Given the description of an element on the screen output the (x, y) to click on. 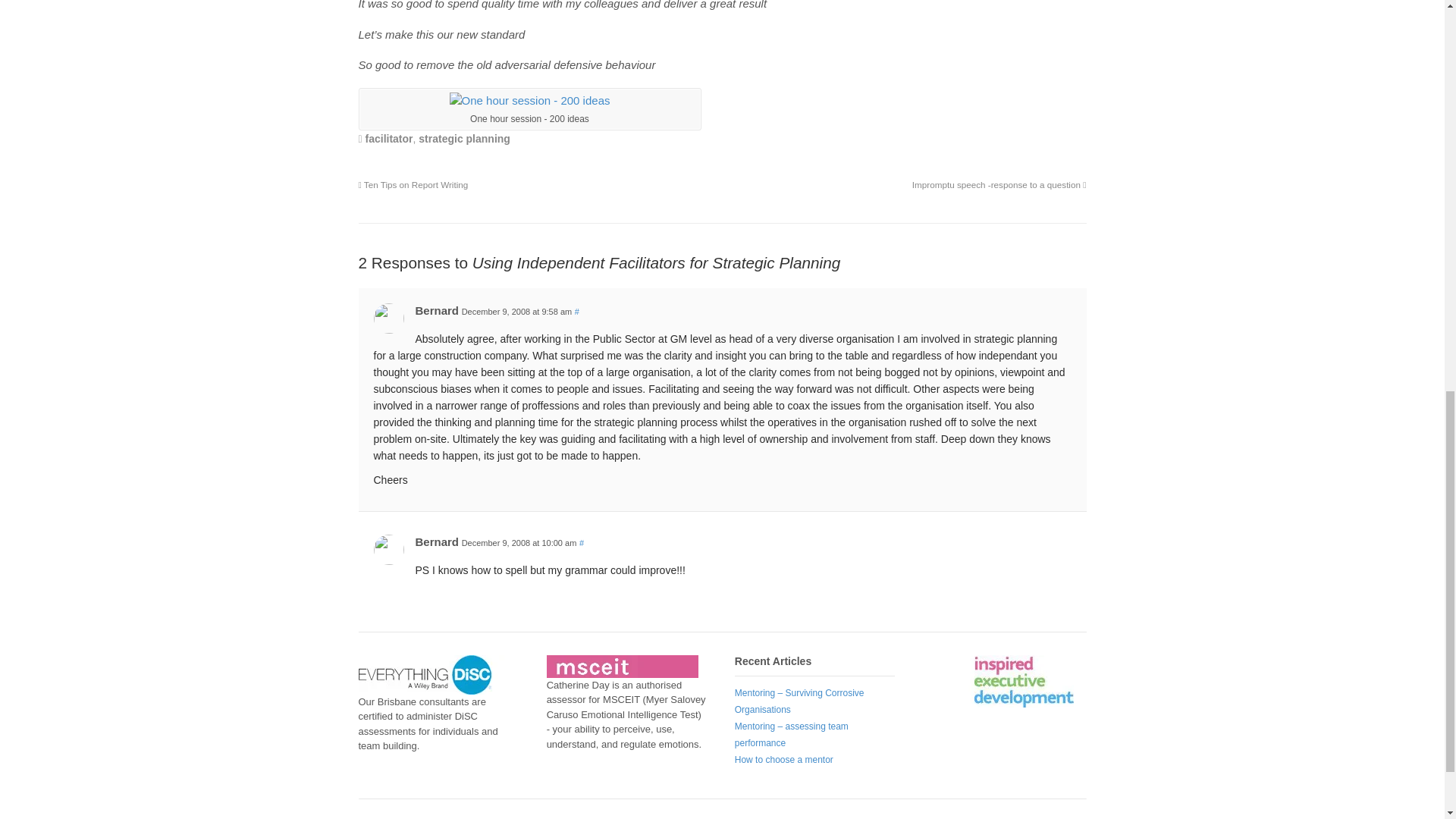
Ten Tips on Report Writing (412, 184)
strategic planning (465, 138)
facilitator (389, 138)
How to choose a mentor (783, 759)
Impromptu speech -response to a question (999, 184)
creativity (529, 101)
